Given the description of an element on the screen output the (x, y) to click on. 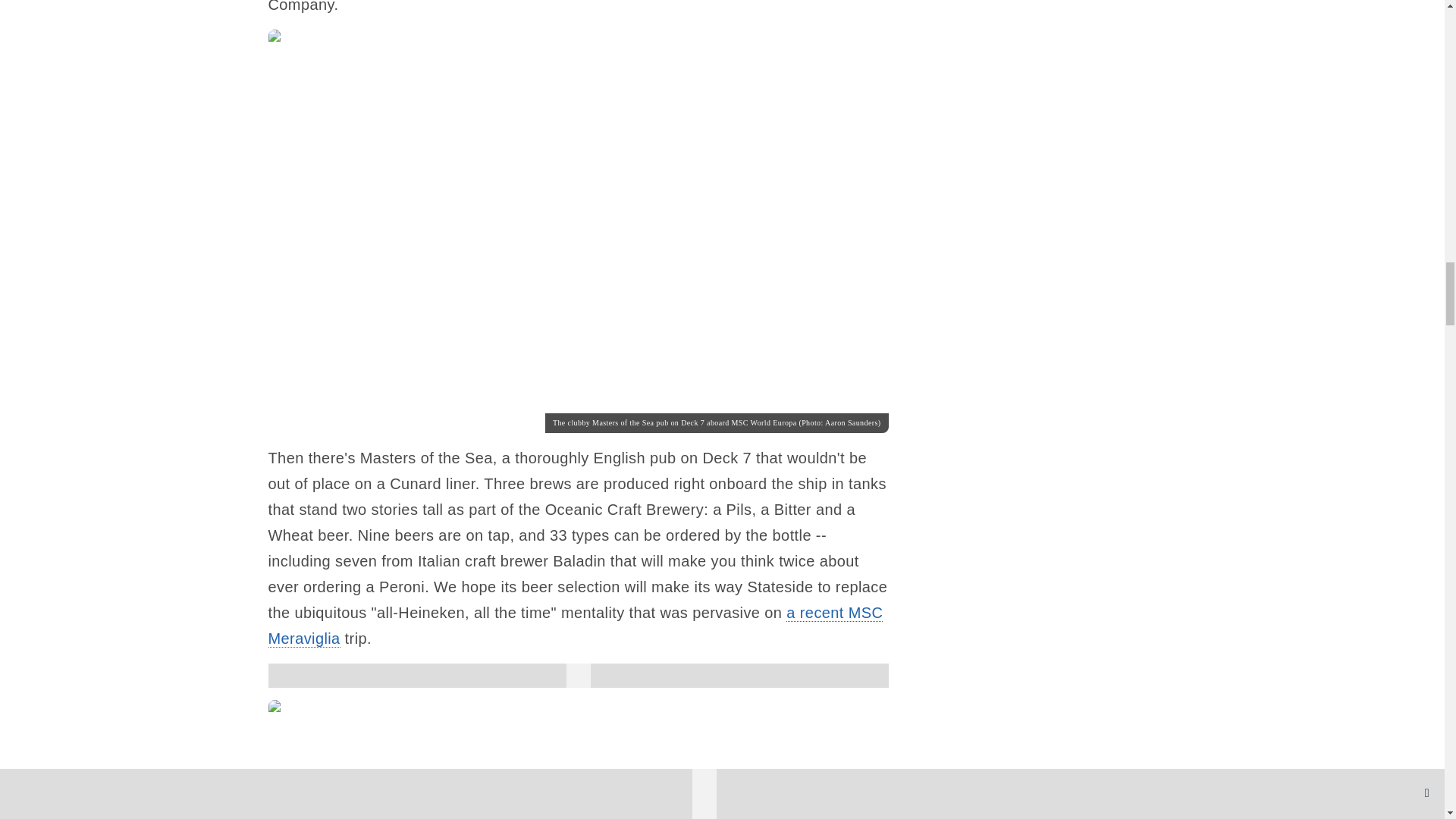
a recent MSC Meraviglia (575, 625)
